Given the description of an element on the screen output the (x, y) to click on. 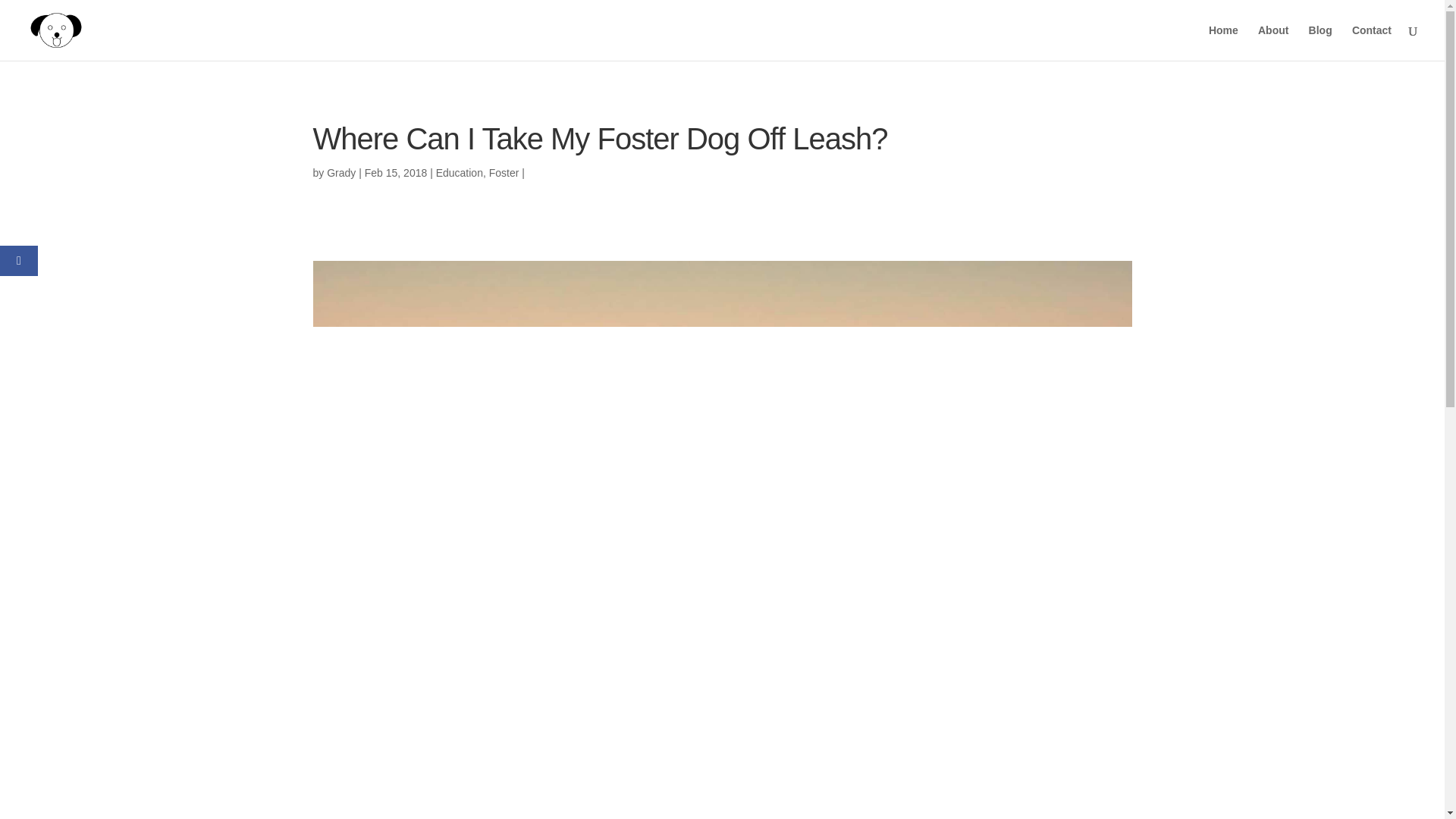
Home (1223, 42)
Grady (340, 173)
Foster (504, 173)
Posts by Grady (340, 173)
Blog (1320, 42)
Education (459, 173)
Contact (1371, 42)
About (1272, 42)
